Given the description of an element on the screen output the (x, y) to click on. 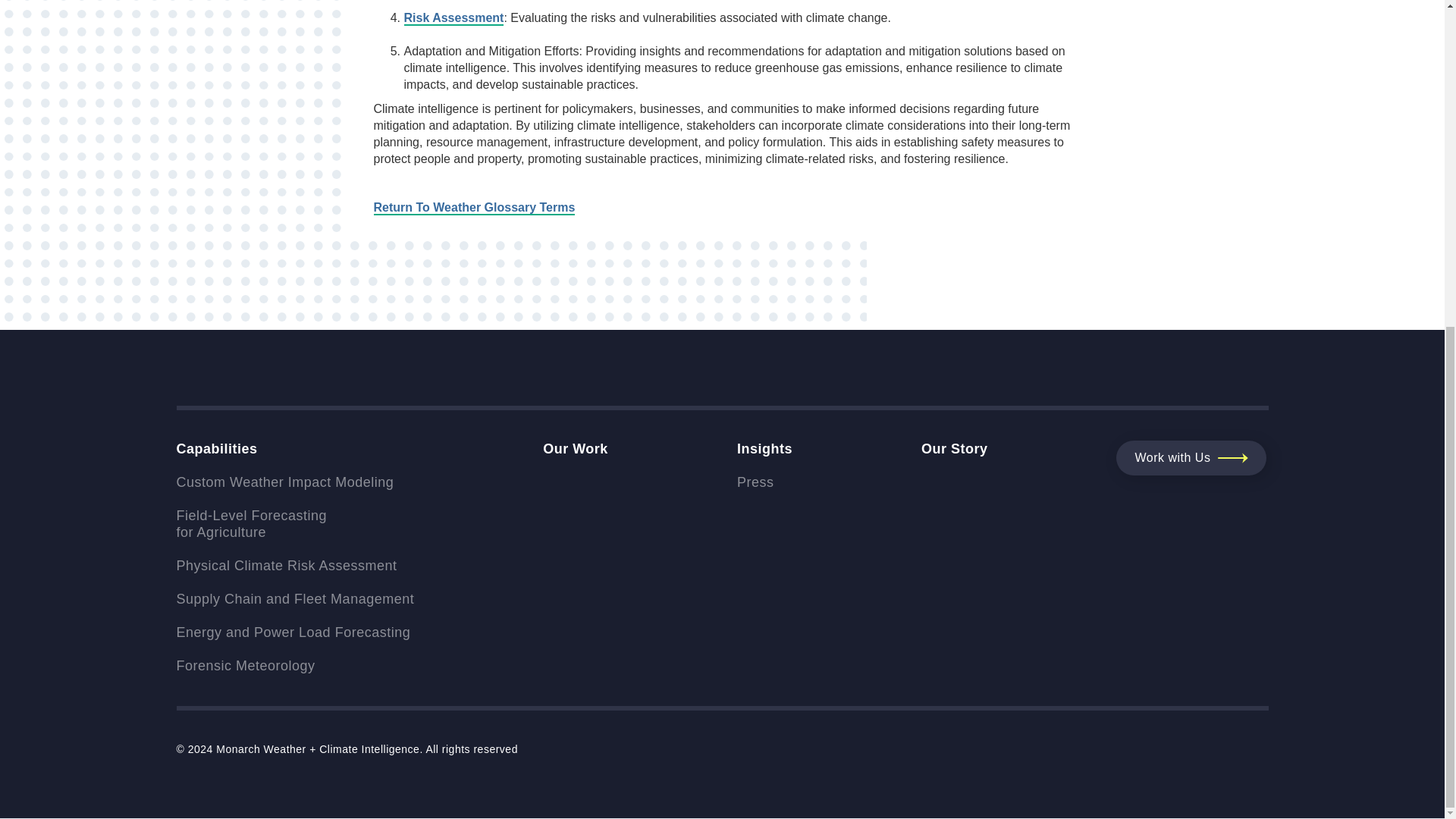
Physical Climate Risk Assessment (294, 566)
Our Story (954, 449)
Return To Weather Glossary Terms (473, 207)
Energy and Power Load Forecasting (294, 633)
Custom Weather Impact Modeling (294, 483)
Our Work (575, 449)
Work with Us (1191, 457)
Forensic Meteorology (294, 666)
Press (764, 483)
Supply Chain and Fleet Management (294, 524)
Risk Assessment (294, 599)
Capabilities (453, 18)
Insights (216, 449)
